Given the description of an element on the screen output the (x, y) to click on. 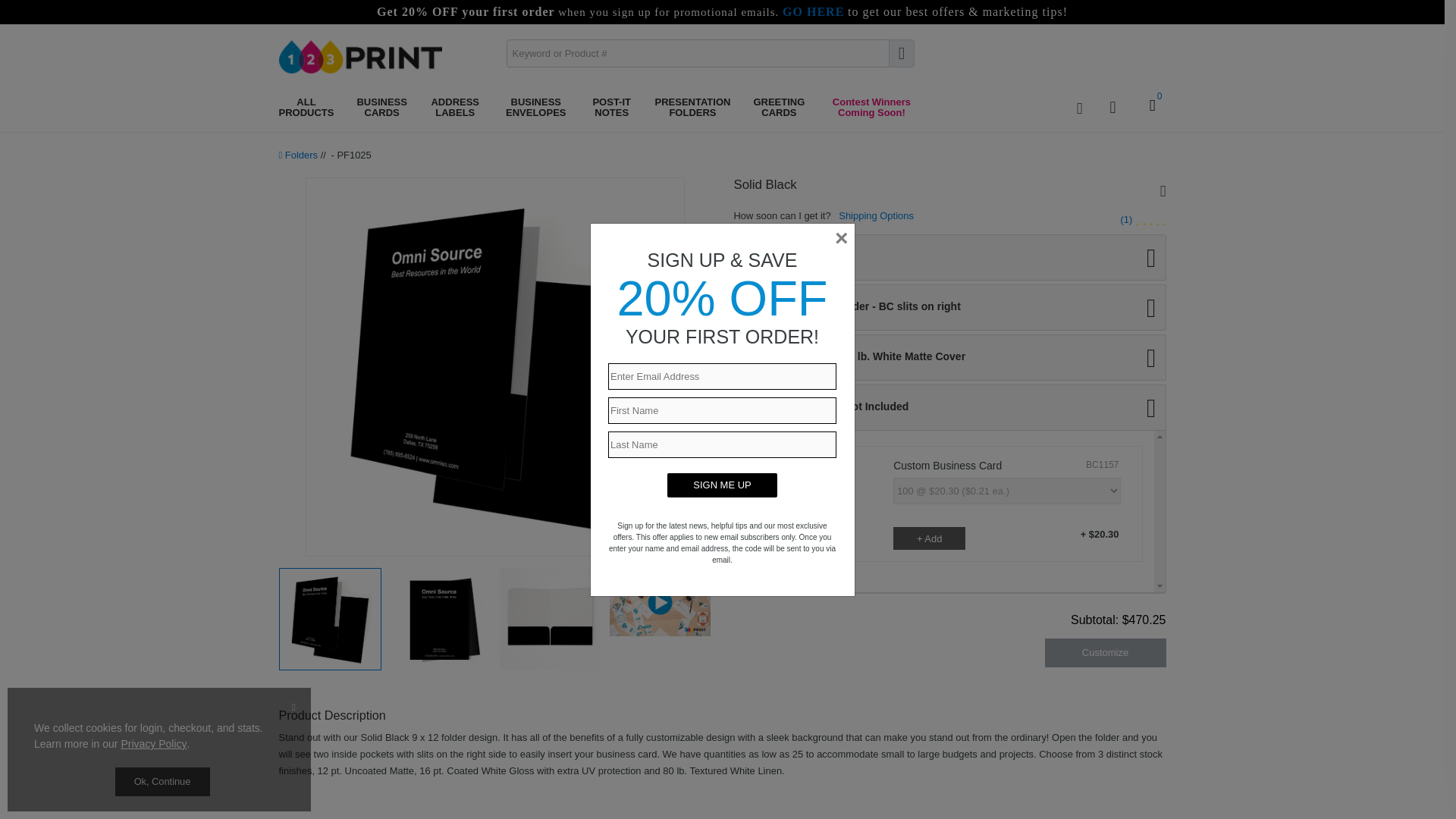
Shopping Cart (1150, 107)
NEW Contest! (871, 107)
ALL PRODUCTS (306, 107)
GO HERE (813, 12)
